Given the description of an element on the screen output the (x, y) to click on. 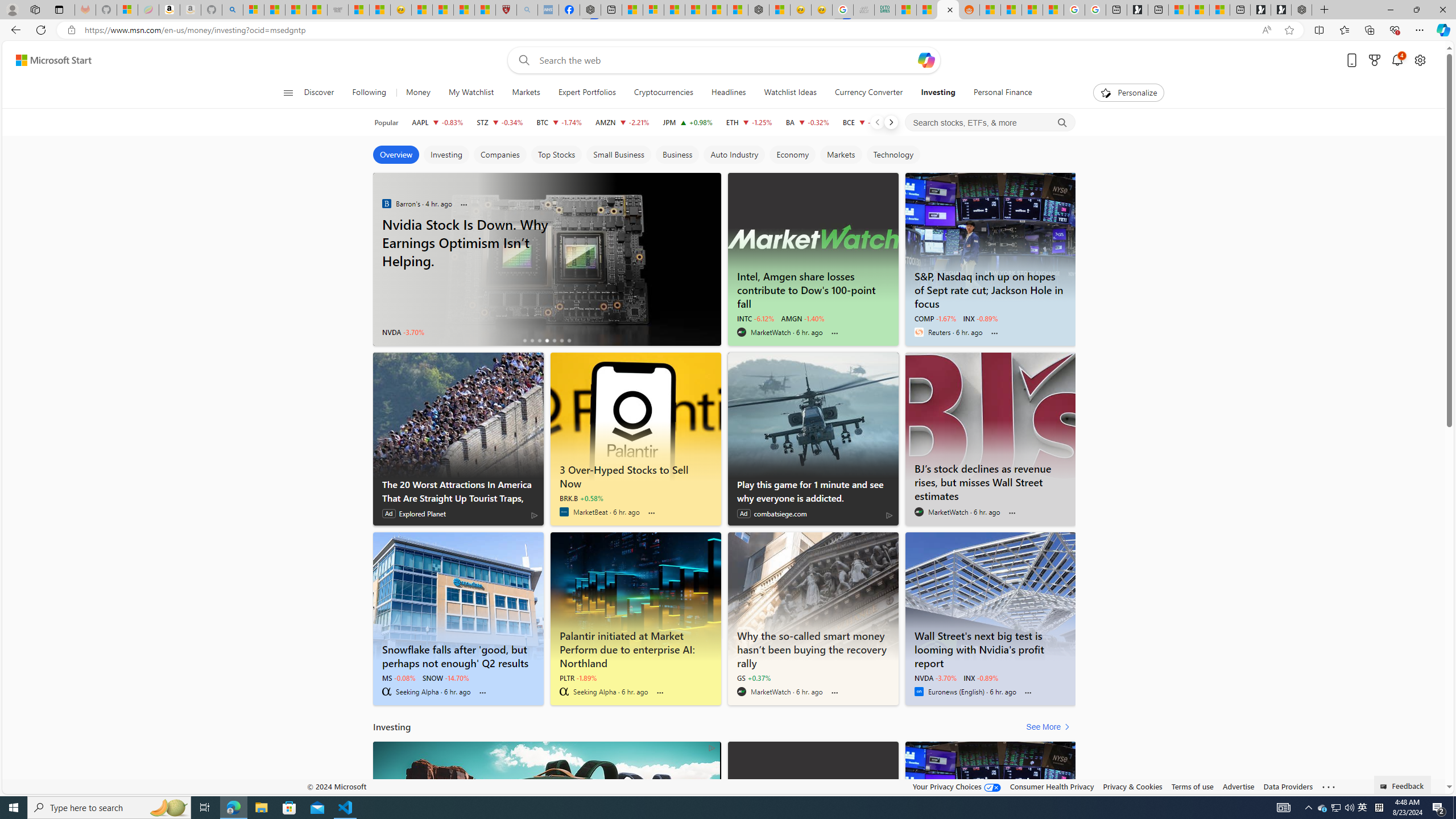
Feedback (1402, 784)
Economy (791, 154)
Robert H. Shmerling, MD - Harvard Health (505, 9)
AdChoices (710, 747)
BCE BCE Inc decrease 34.55 -0.07 -0.20% (865, 122)
Personalize (1128, 92)
SNOW -14.70% (445, 677)
Open Copilot (926, 59)
Open settings (1420, 60)
Markets (840, 154)
3 Over-Hyped Stocks to Sell Now - MarketBeat (635, 474)
Close (1442, 9)
